Given the description of an element on the screen output the (x, y) to click on. 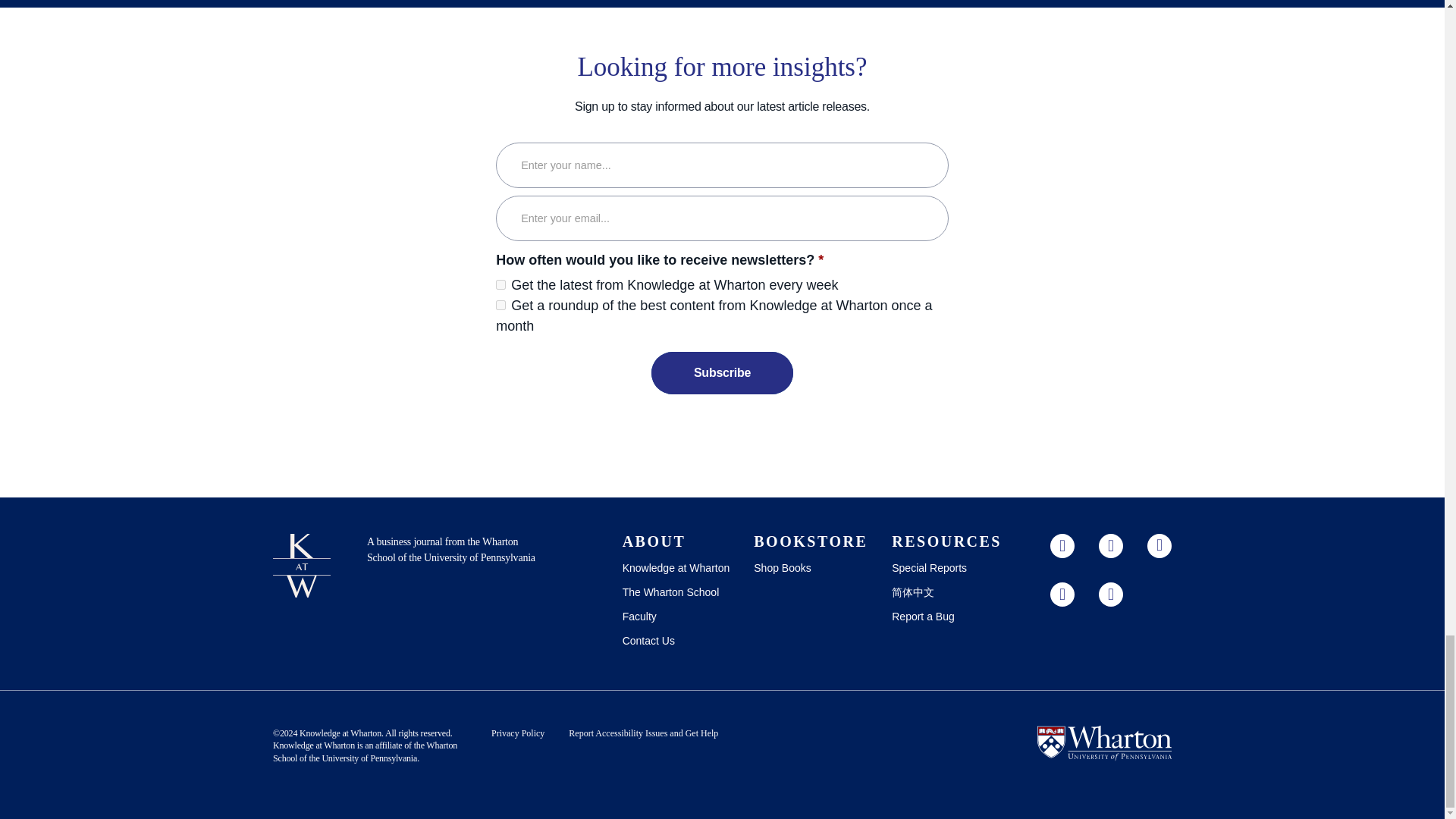
Knowledge at Wharton (340, 733)
6825401 (500, 305)
Knowledge at Wharton (314, 745)
6836382 (500, 284)
